Given the description of an element on the screen output the (x, y) to click on. 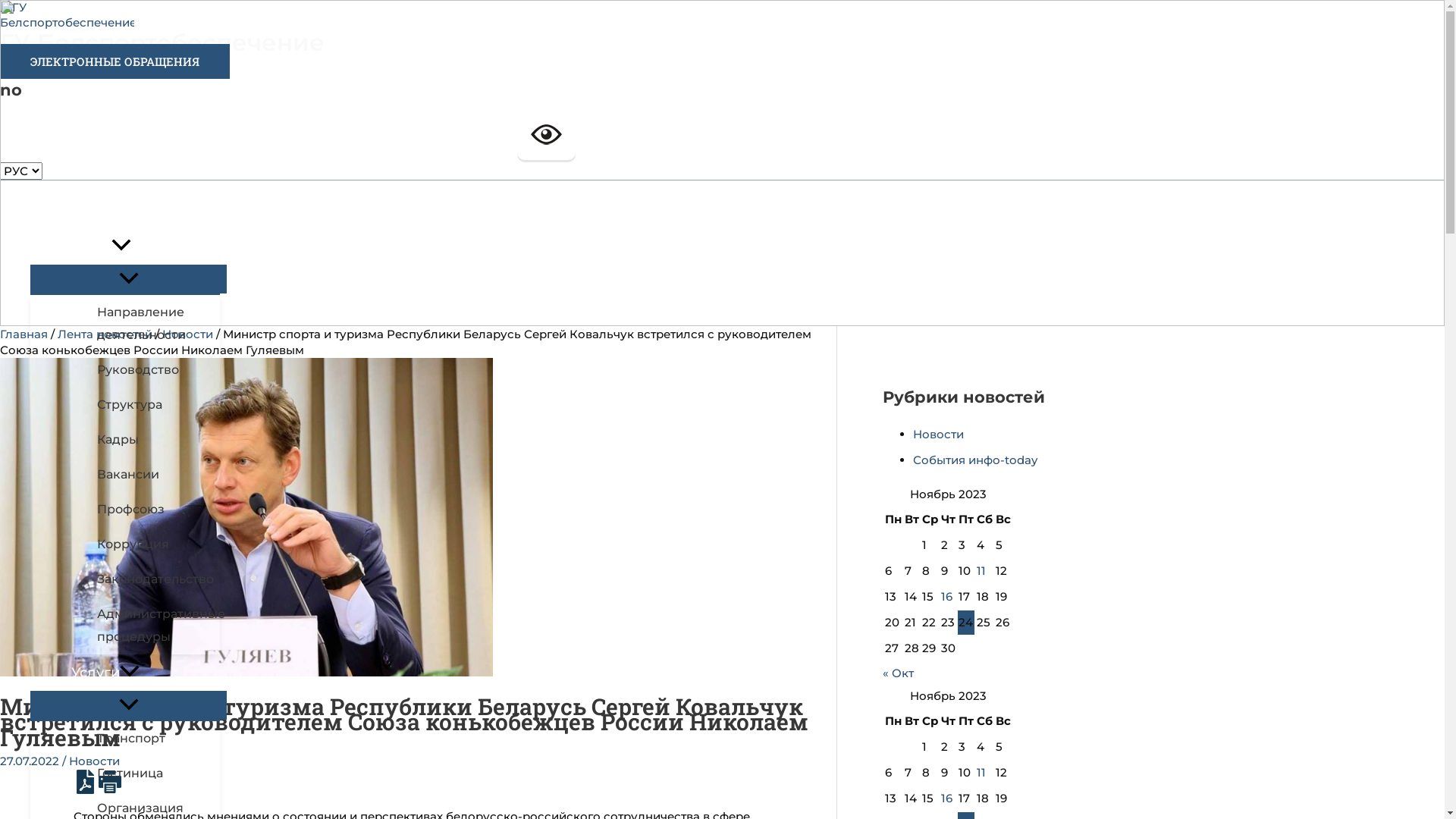
11 Element type: text (980, 772)
11 Element type: text (980, 570)
16 Element type: text (946, 596)
16 Element type: text (946, 797)
